Given the description of an element on the screen output the (x, y) to click on. 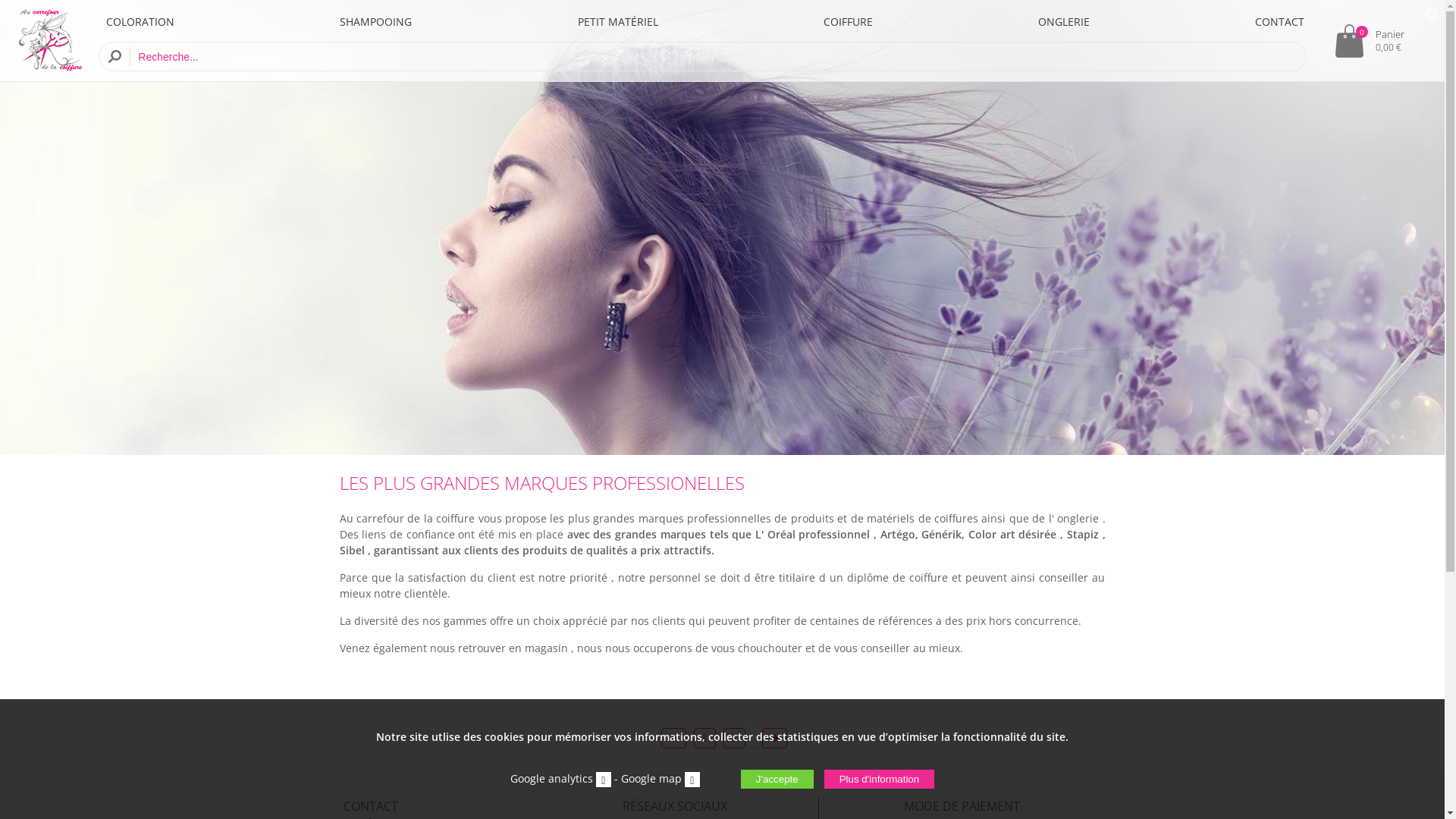
ONGLERIE Element type: text (1063, 20)
1 Element type: text (704, 738)
COIFFURE Element type: text (847, 20)
SHAMPOOING Element type: text (375, 20)
COLORATION Element type: text (140, 20)
Plus d'information Element type: text (879, 778)
J'accepte Element type: text (776, 778)
CONTACT Element type: text (1279, 20)
2 Element type: text (734, 738)
